Given the description of an element on the screen output the (x, y) to click on. 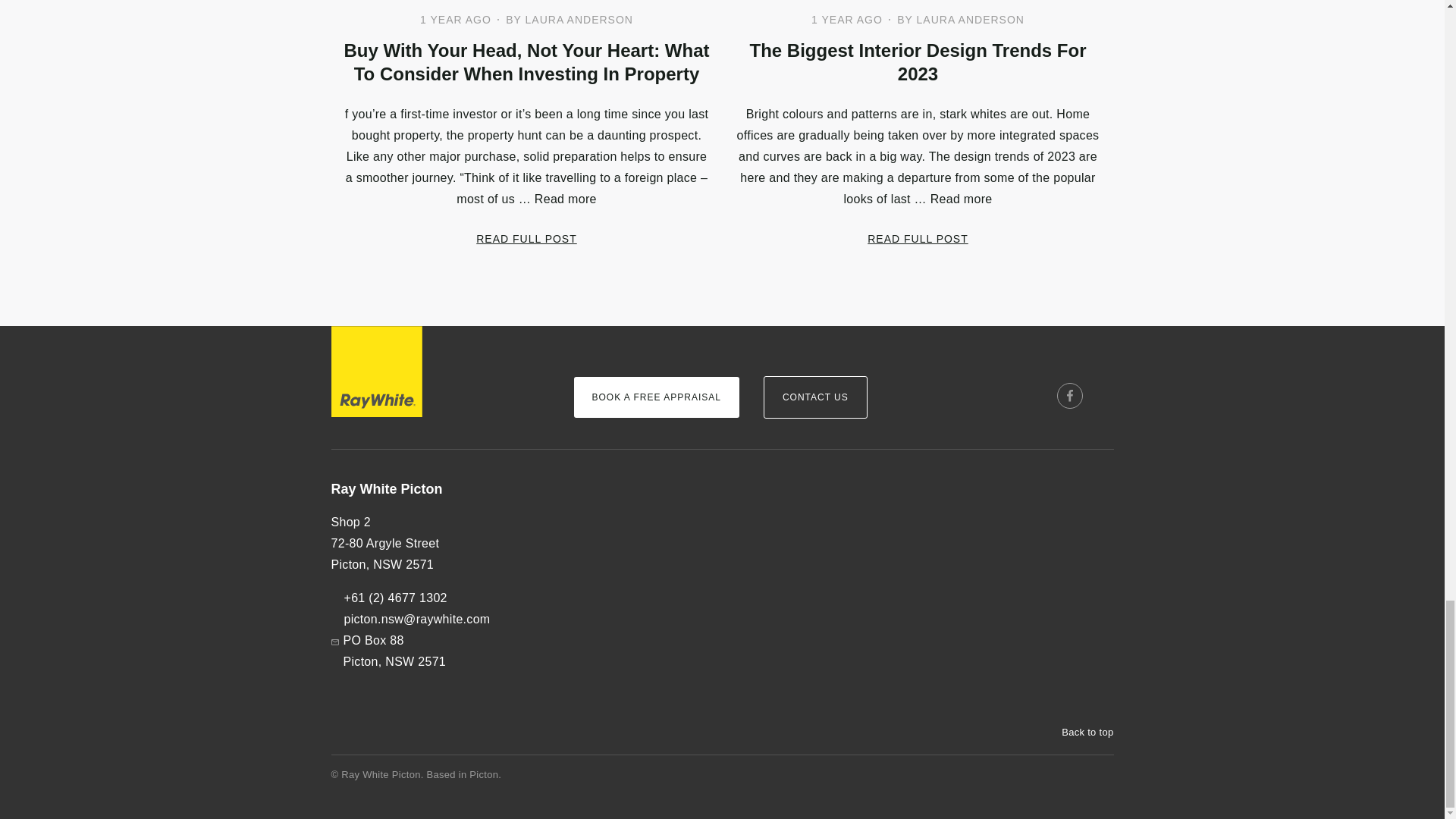
READ FULL POST (917, 237)
CONTACT US (814, 396)
Facebook (1070, 395)
Back to top (1079, 732)
Ray White Picton (439, 489)
BOOK A FREE APPRAISAL (655, 396)
The Biggest Interior Design Trends For 2023 (916, 61)
READ FULL POST (526, 237)
Ray White (376, 370)
